Given the description of an element on the screen output the (x, y) to click on. 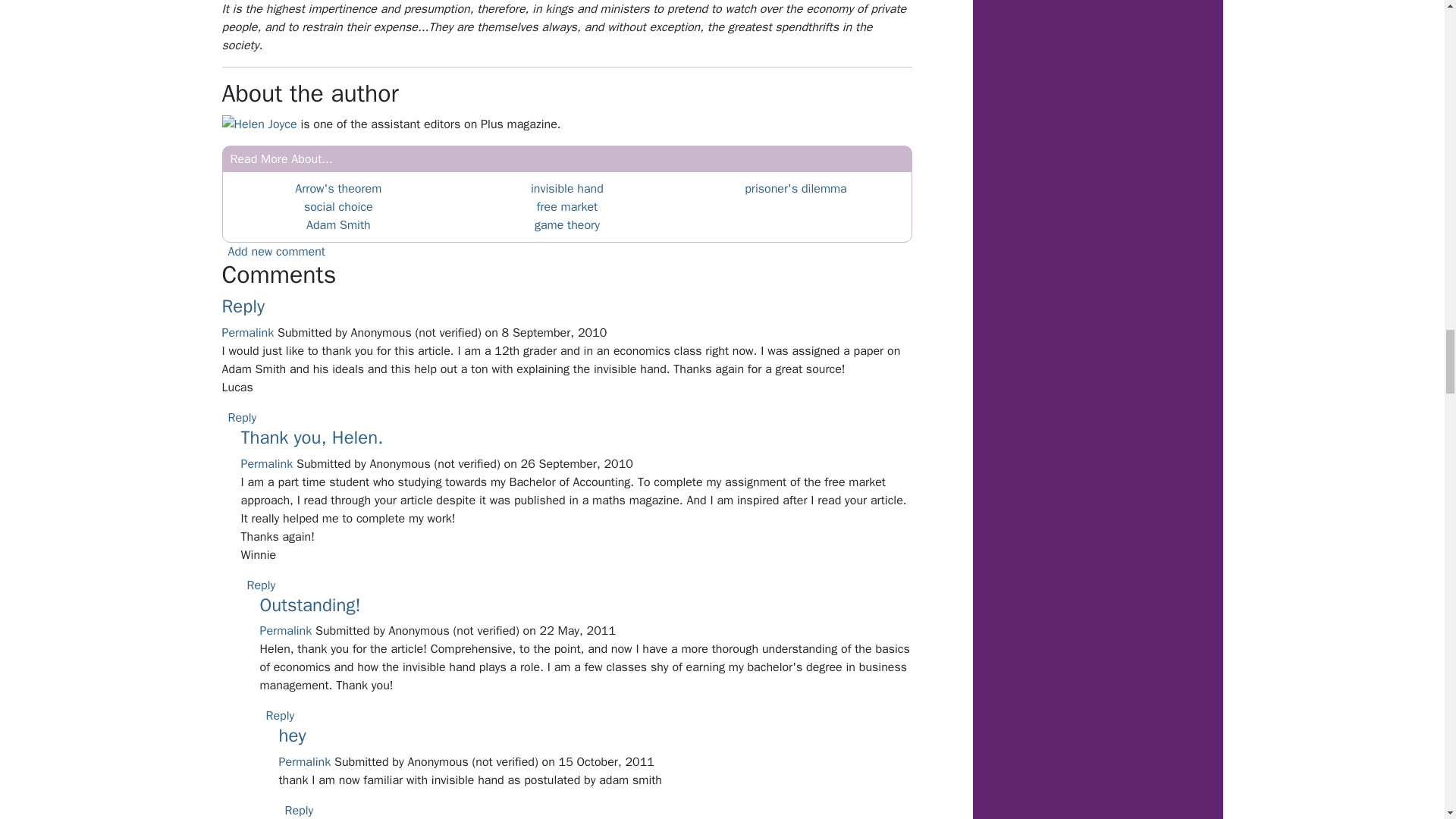
free market (567, 206)
Adam Smith (338, 224)
Reply (242, 305)
Arrow's theorem (338, 188)
game theory (566, 224)
Add new comment (275, 251)
social choice (338, 206)
Helen Joyce (264, 124)
Permalink (247, 332)
prisoner's dilemma (795, 188)
invisible hand (567, 188)
Share your thoughts and opinions. (275, 251)
